Given the description of an element on the screen output the (x, y) to click on. 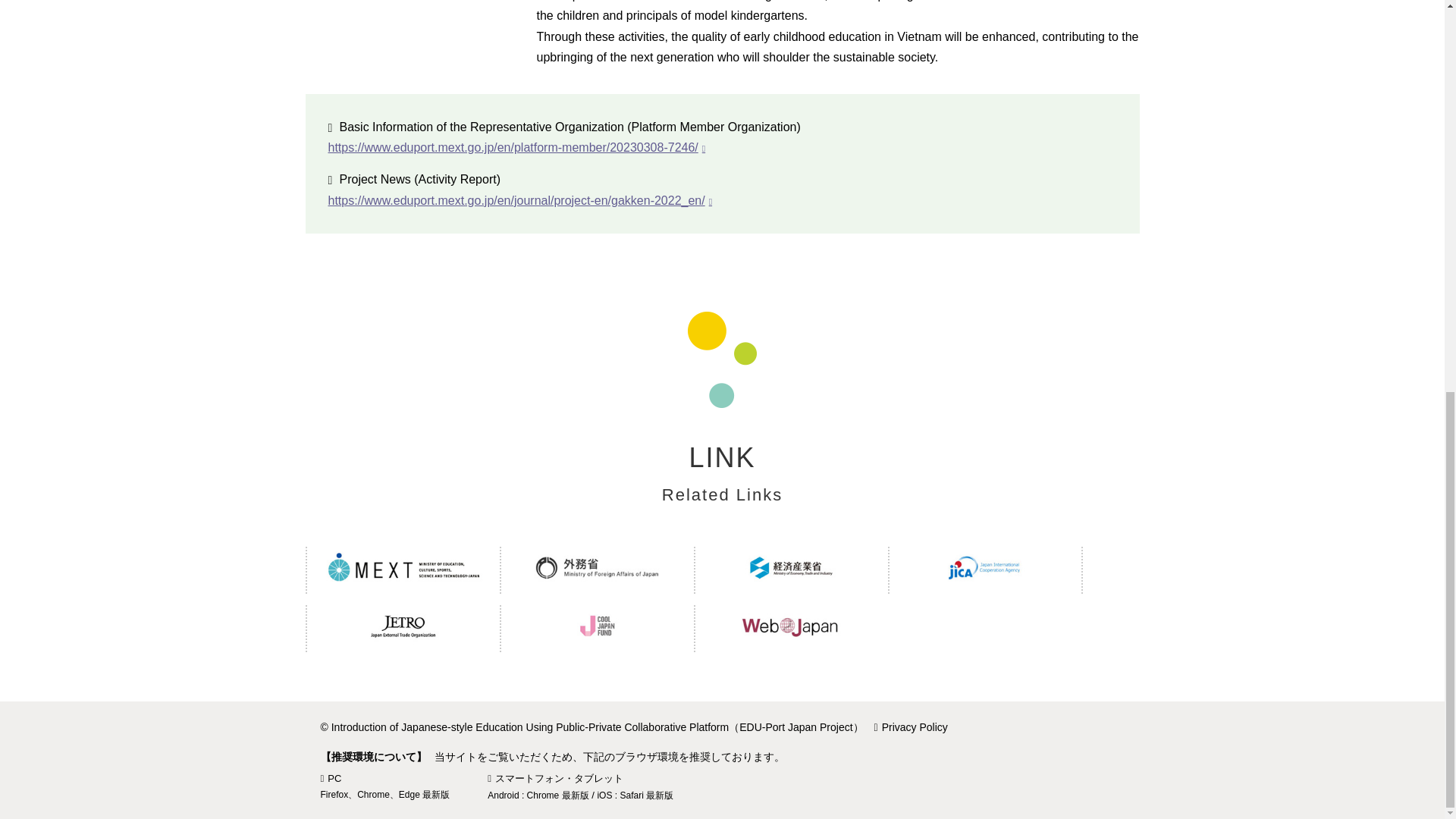
Privacy Policy (914, 727)
